Given the description of an element on the screen output the (x, y) to click on. 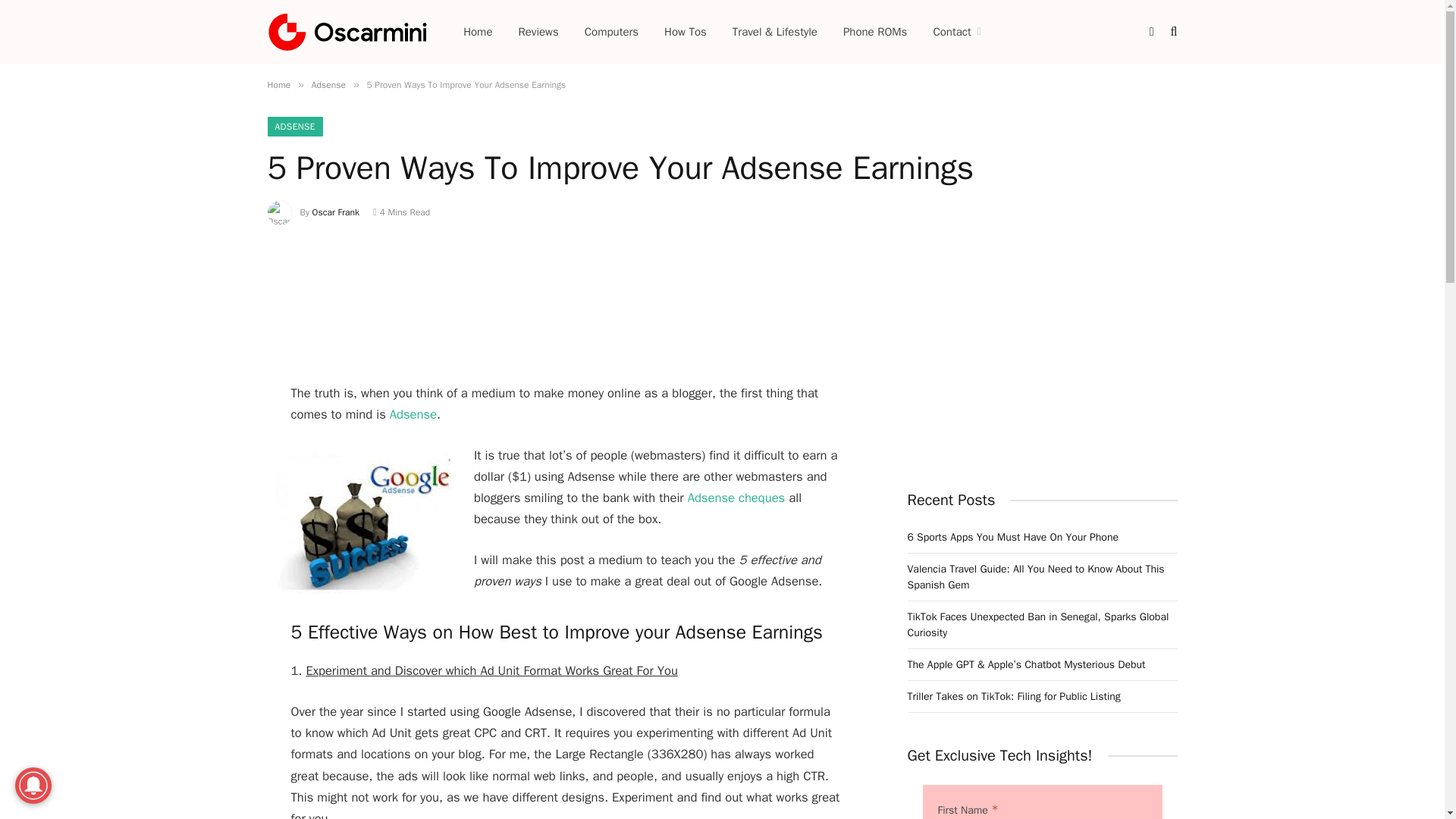
Oscar Frank (336, 212)
Phone ROMs (874, 31)
Adsense (413, 414)
ADSENSE (293, 126)
Contact (956, 31)
Oscarmini (346, 31)
Reviews (537, 31)
Posts by Oscar Frank (336, 212)
Switch to Dark Design - easier on eyes. (1151, 31)
Advertisement (565, 305)
How Tos (684, 31)
Adsense (328, 84)
Computers (611, 31)
What is Adsense (413, 414)
How to Track Adsense Payment Cheque Via DHL (736, 497)
